Given the description of an element on the screen output the (x, y) to click on. 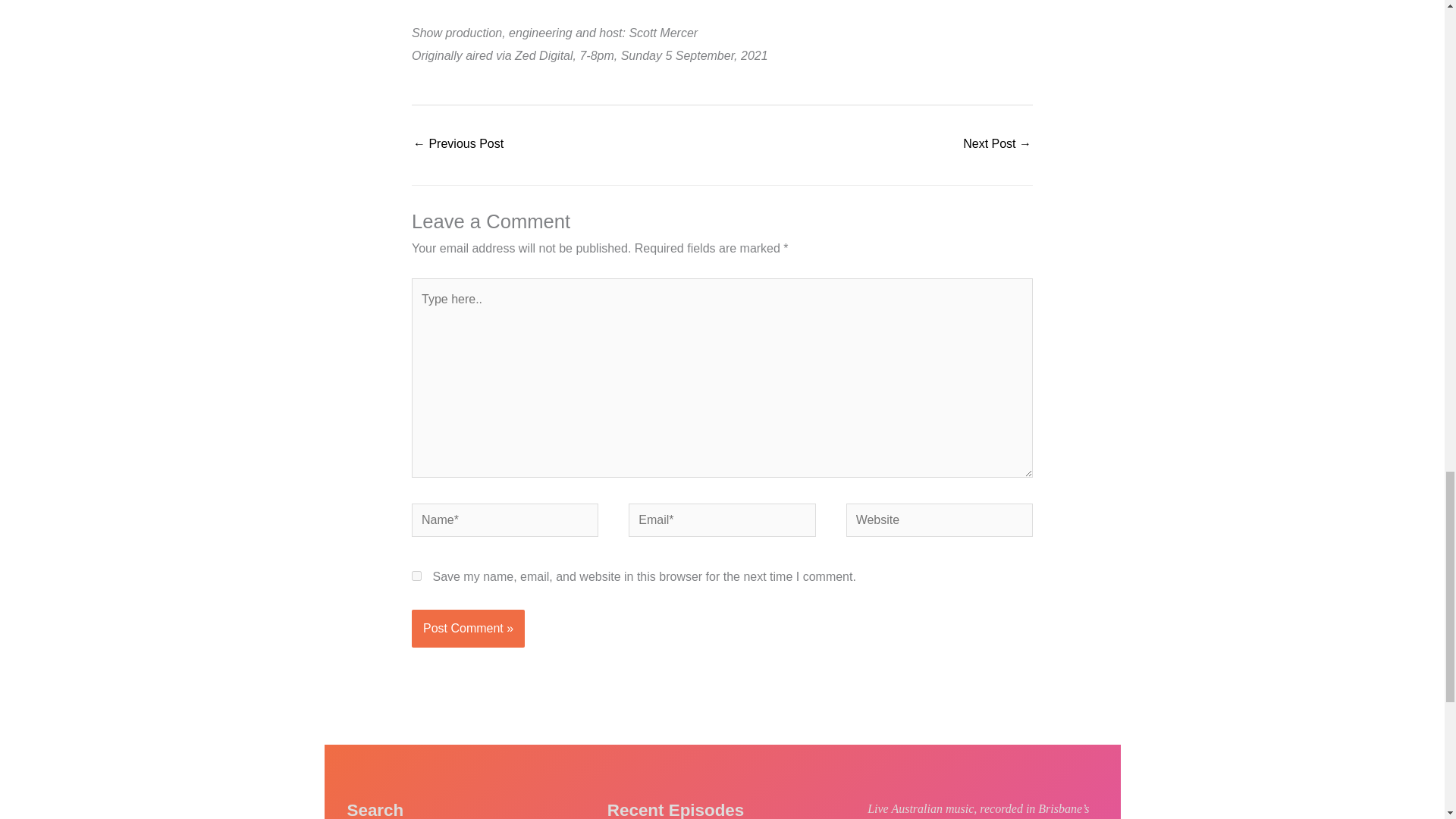
yes (417, 575)
Ep 370 - Velociraptor (996, 144)
Ep 368 - Bum Spa and Fat (458, 144)
